Given the description of an element on the screen output the (x, y) to click on. 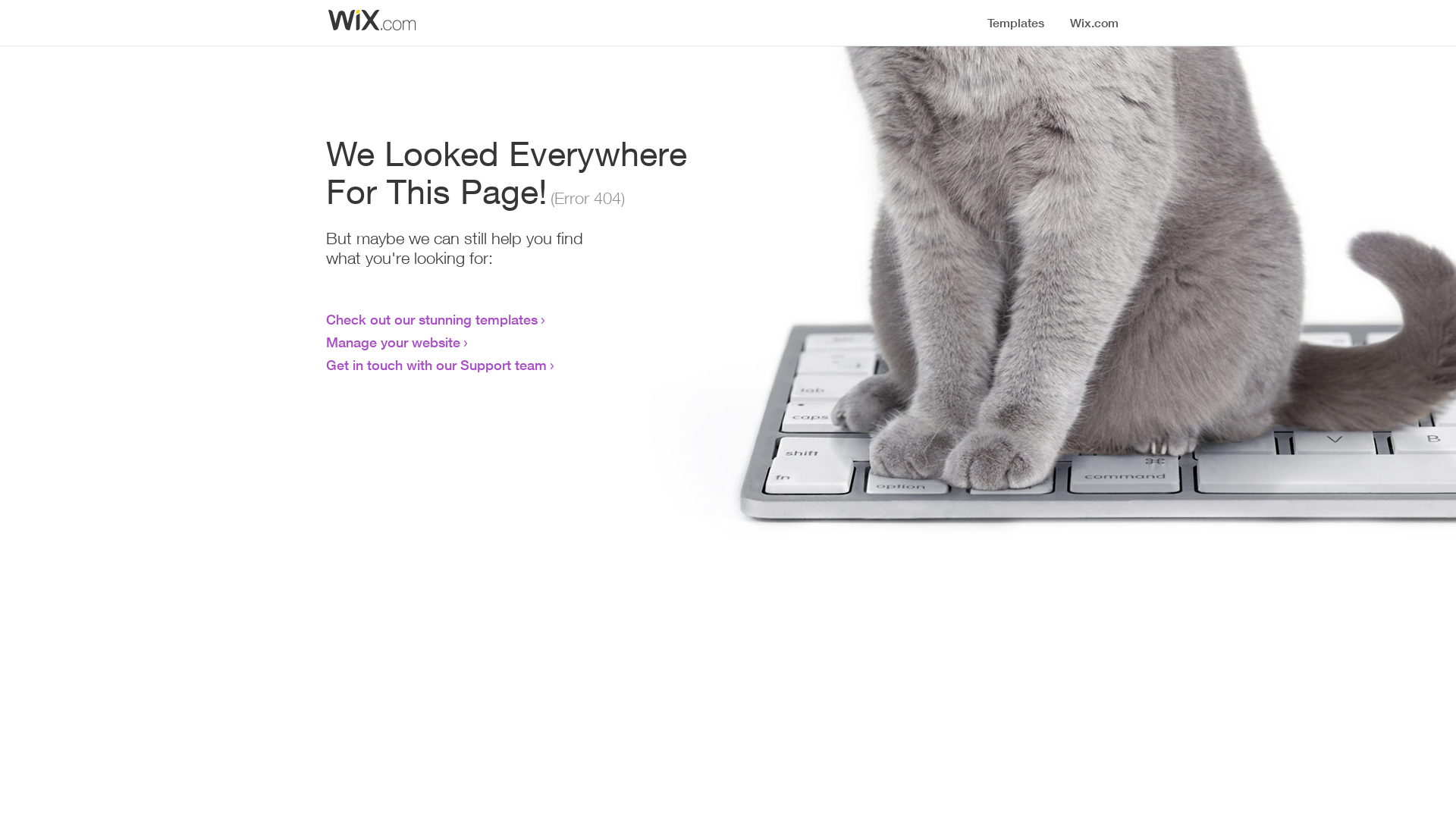
Check out our stunning templates Element type: text (431, 318)
Manage your website Element type: text (393, 341)
Get in touch with our Support team Element type: text (436, 364)
